Given the description of an element on the screen output the (x, y) to click on. 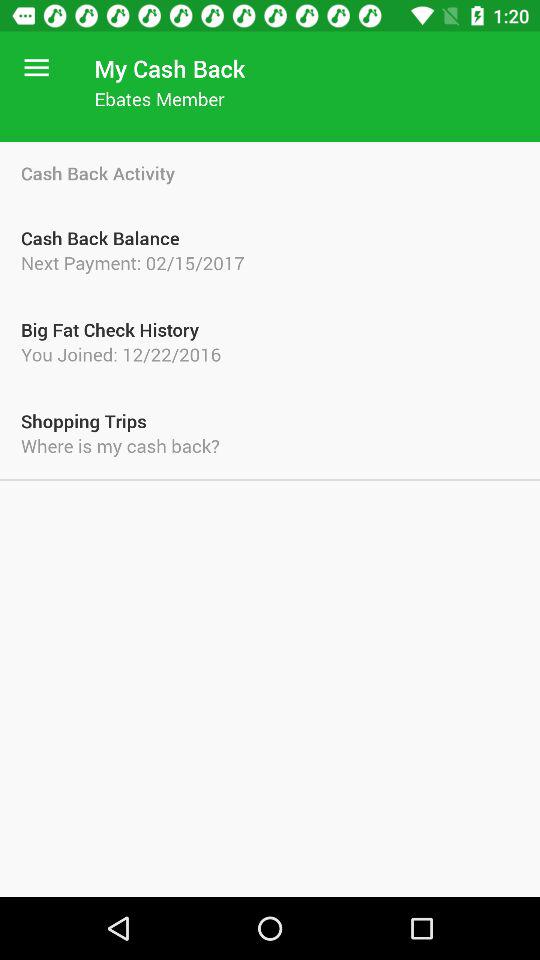
scroll to where is my (270, 445)
